Given the description of an element on the screen output the (x, y) to click on. 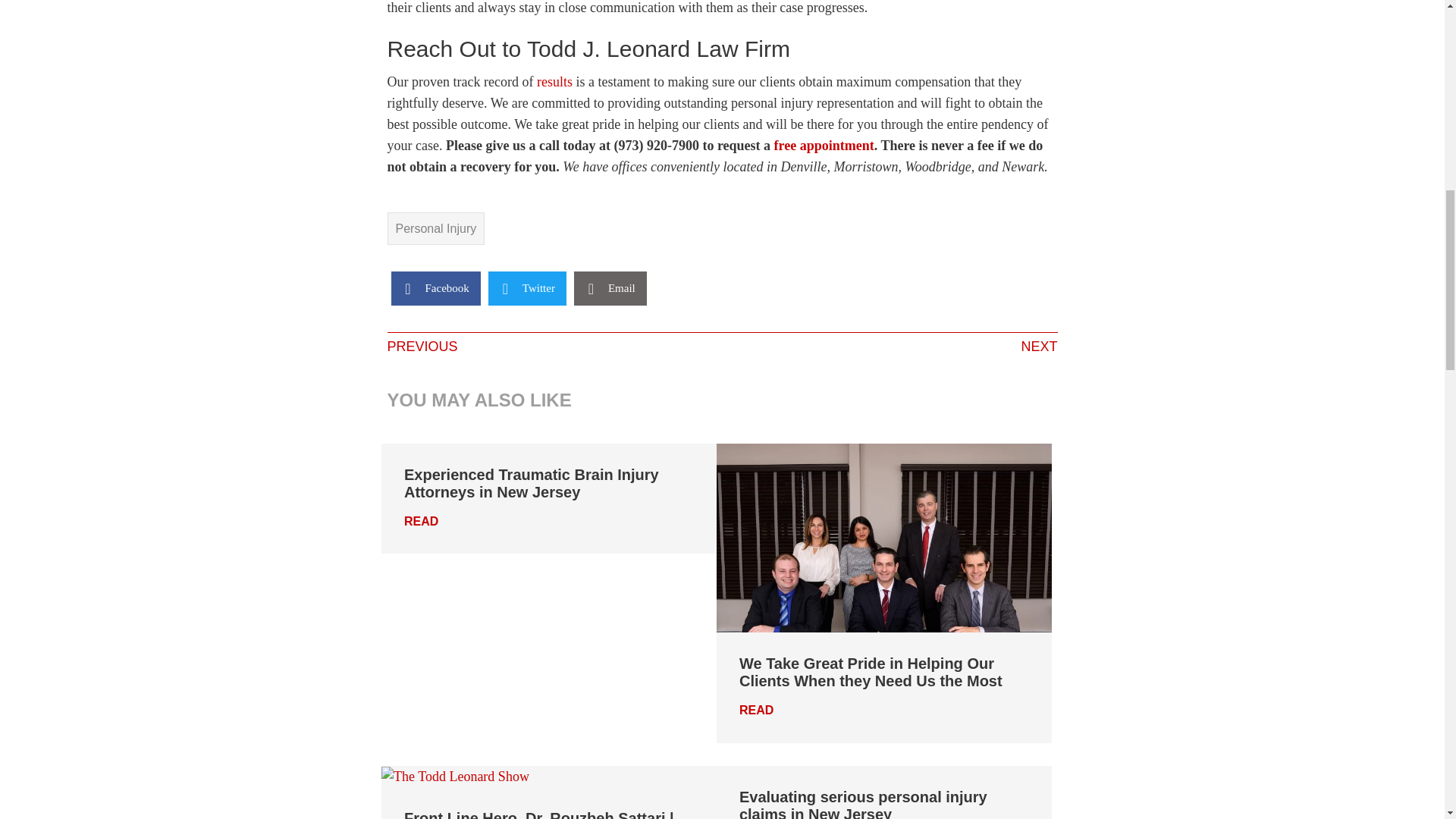
Evaluating serious personal injury claims in New Jersey (863, 803)
Experienced Traumatic Brain Injury Attorneys in New Jersey (531, 483)
